Given the description of an element on the screen output the (x, y) to click on. 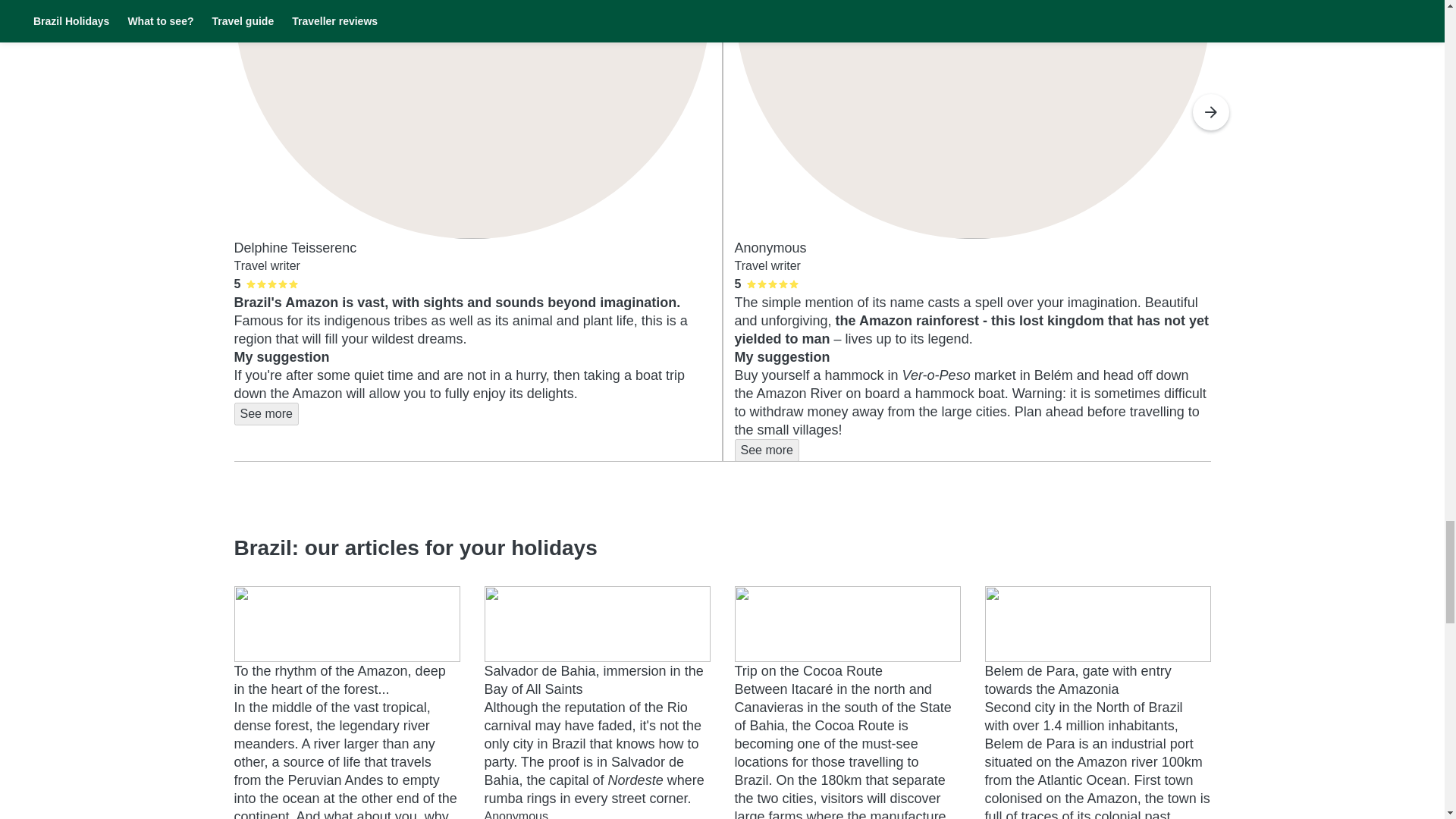
Trip on the Cocoa Route (807, 670)
Belem de Para, gate with entry towards the Amazonia (1077, 679)
Salvador de Bahia, immersion in the Bay of All Saints (593, 679)
See more (765, 449)
See more (265, 413)
